Given the description of an element on the screen output the (x, y) to click on. 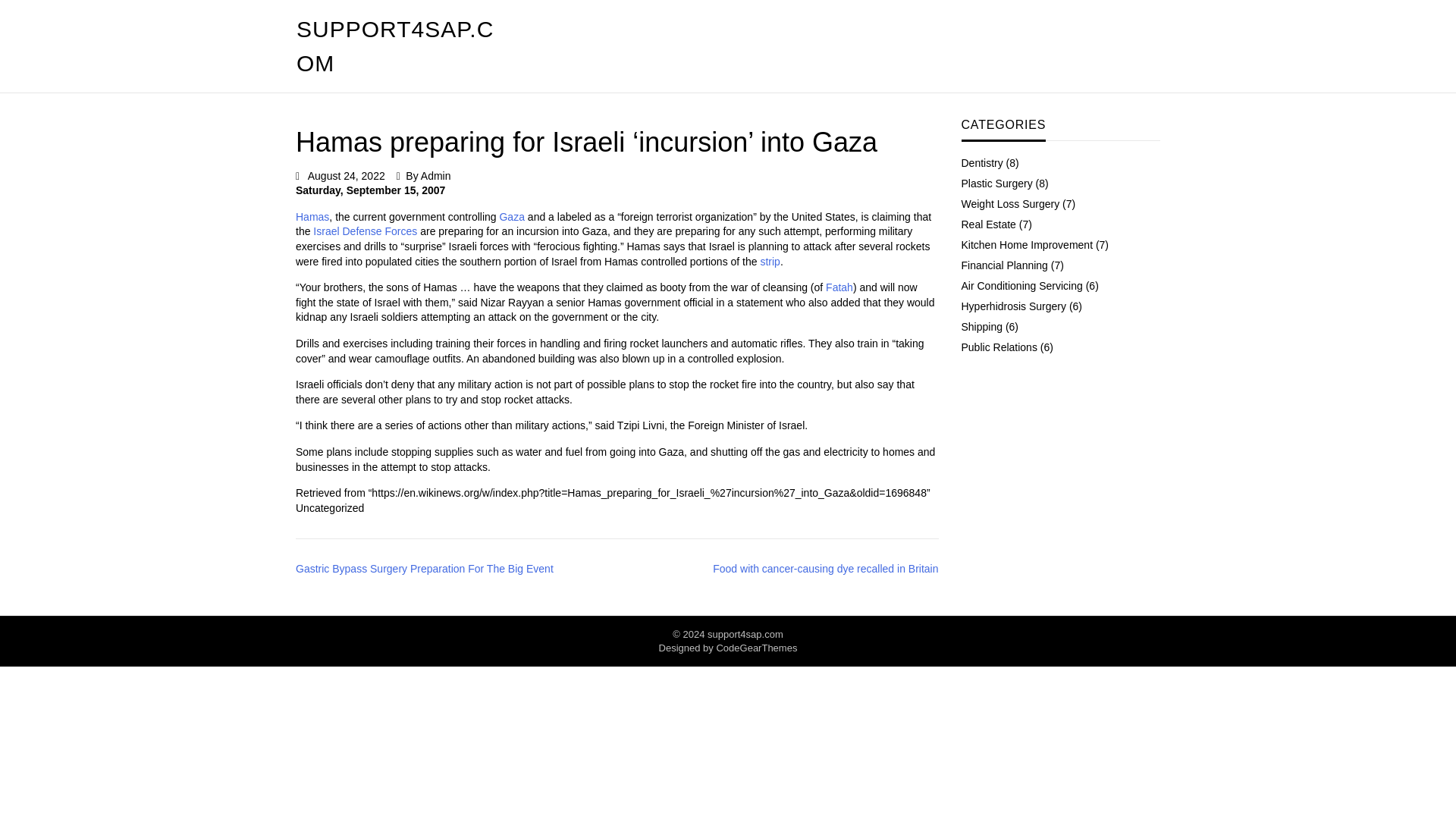
Gastric Bypass Surgery Preparation For The Big Event (424, 568)
CodeGearThemes (756, 648)
Admin (435, 175)
SUPPORT4SAP.COM (395, 46)
Food with cancer-causing dye recalled in Britain (778, 569)
strip (769, 261)
Fatah (839, 287)
Hamas (312, 216)
Free WordPress Theme (756, 648)
August 24, 2022 (346, 175)
